Given the description of an element on the screen output the (x, y) to click on. 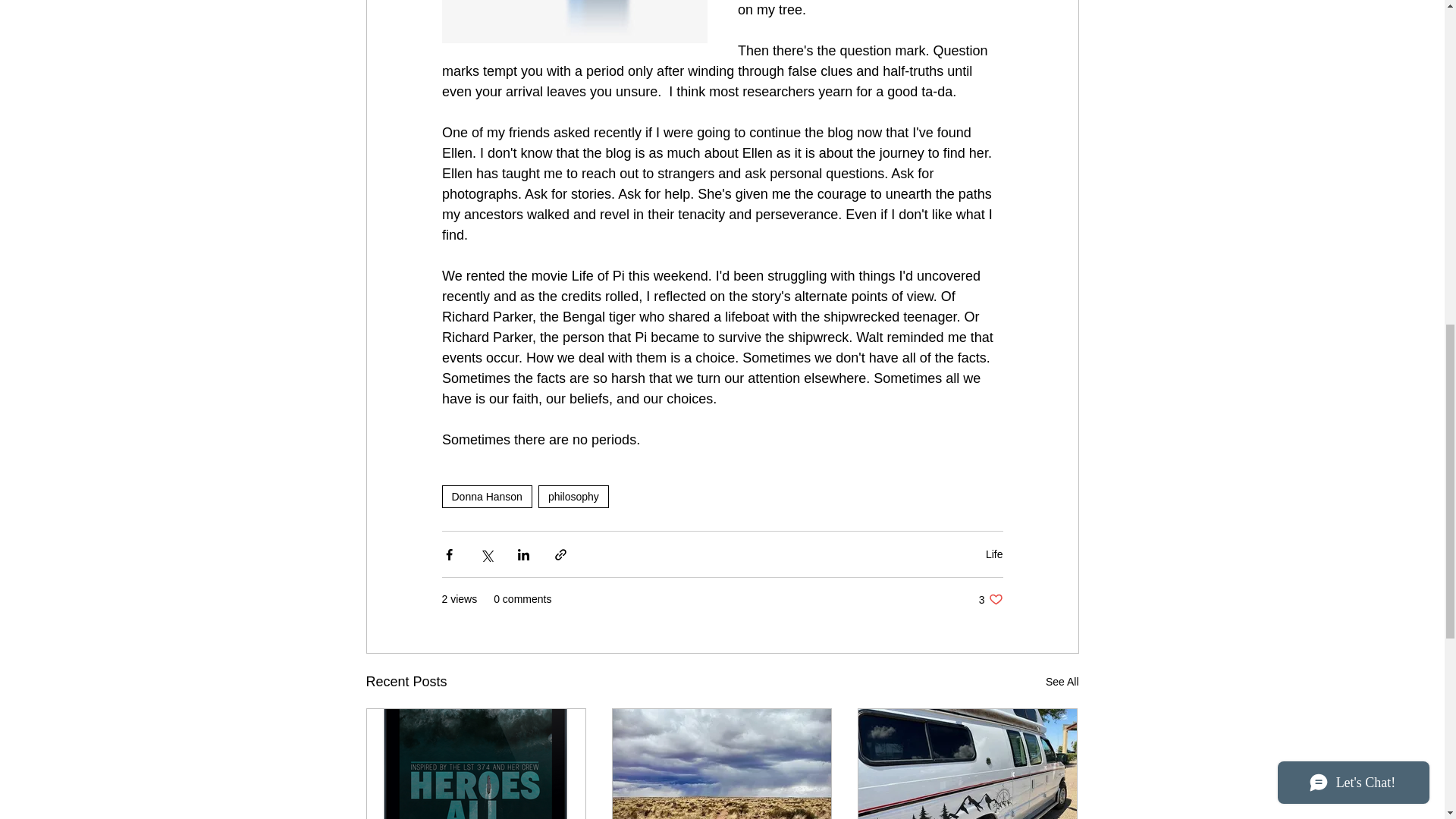
philosophy (990, 599)
Life (573, 496)
See All (994, 553)
Donna Hanson (1061, 681)
